Given the description of an element on the screen output the (x, y) to click on. 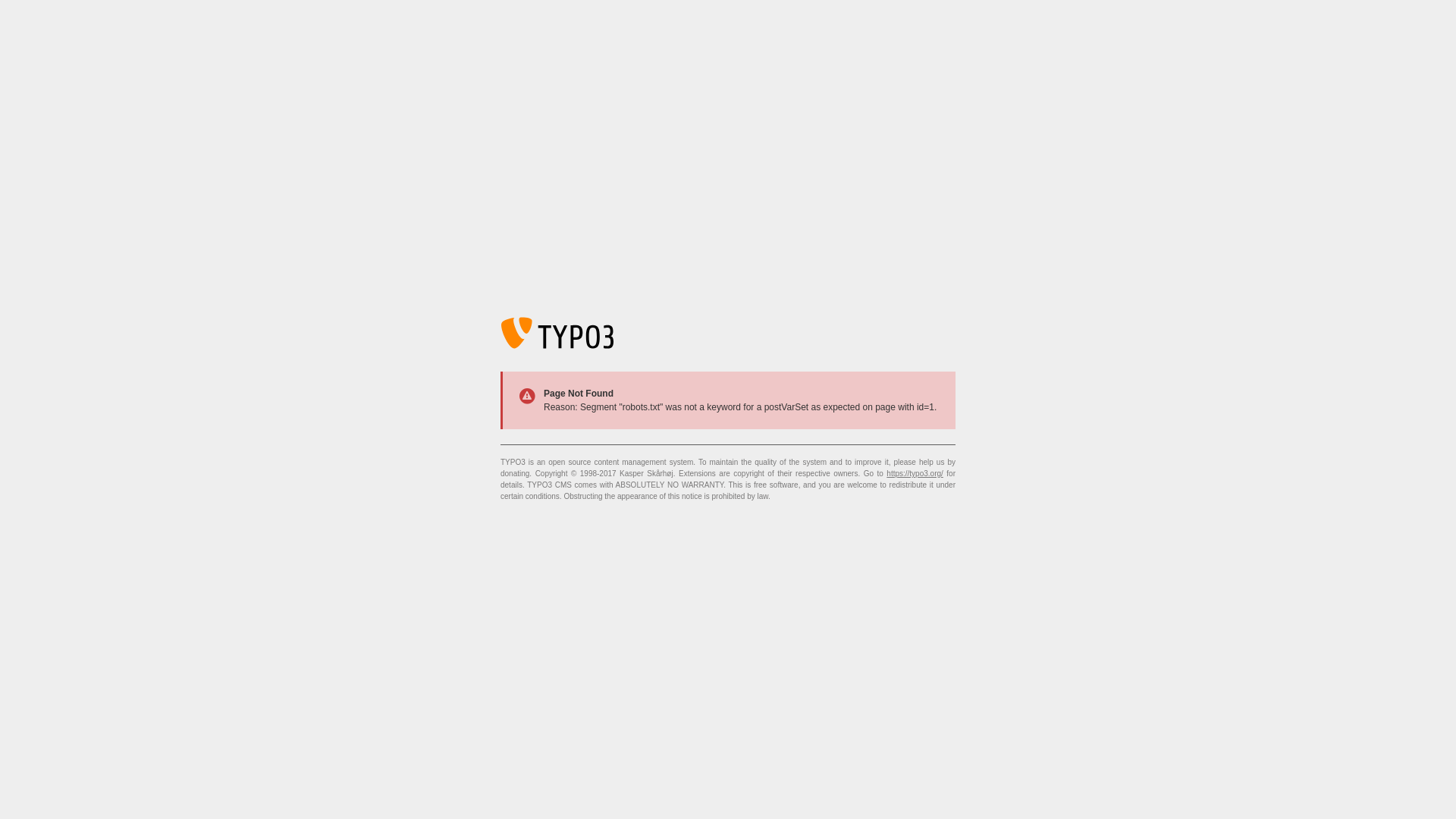
https://typo3.org/ Element type: text (914, 473)
